Given the description of an element on the screen output the (x, y) to click on. 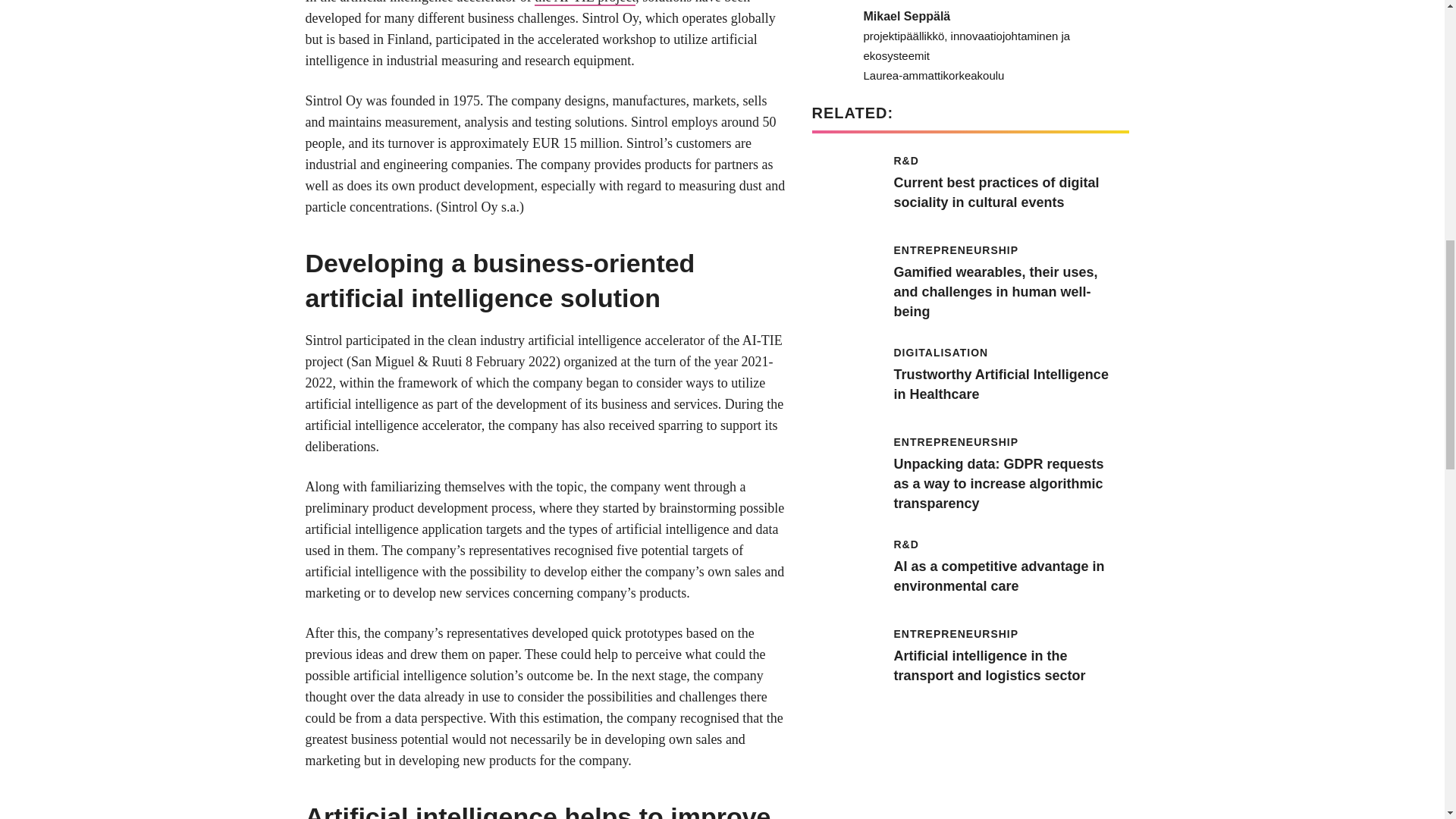
the AI-TIE project (584, 2)
